Given the description of an element on the screen output the (x, y) to click on. 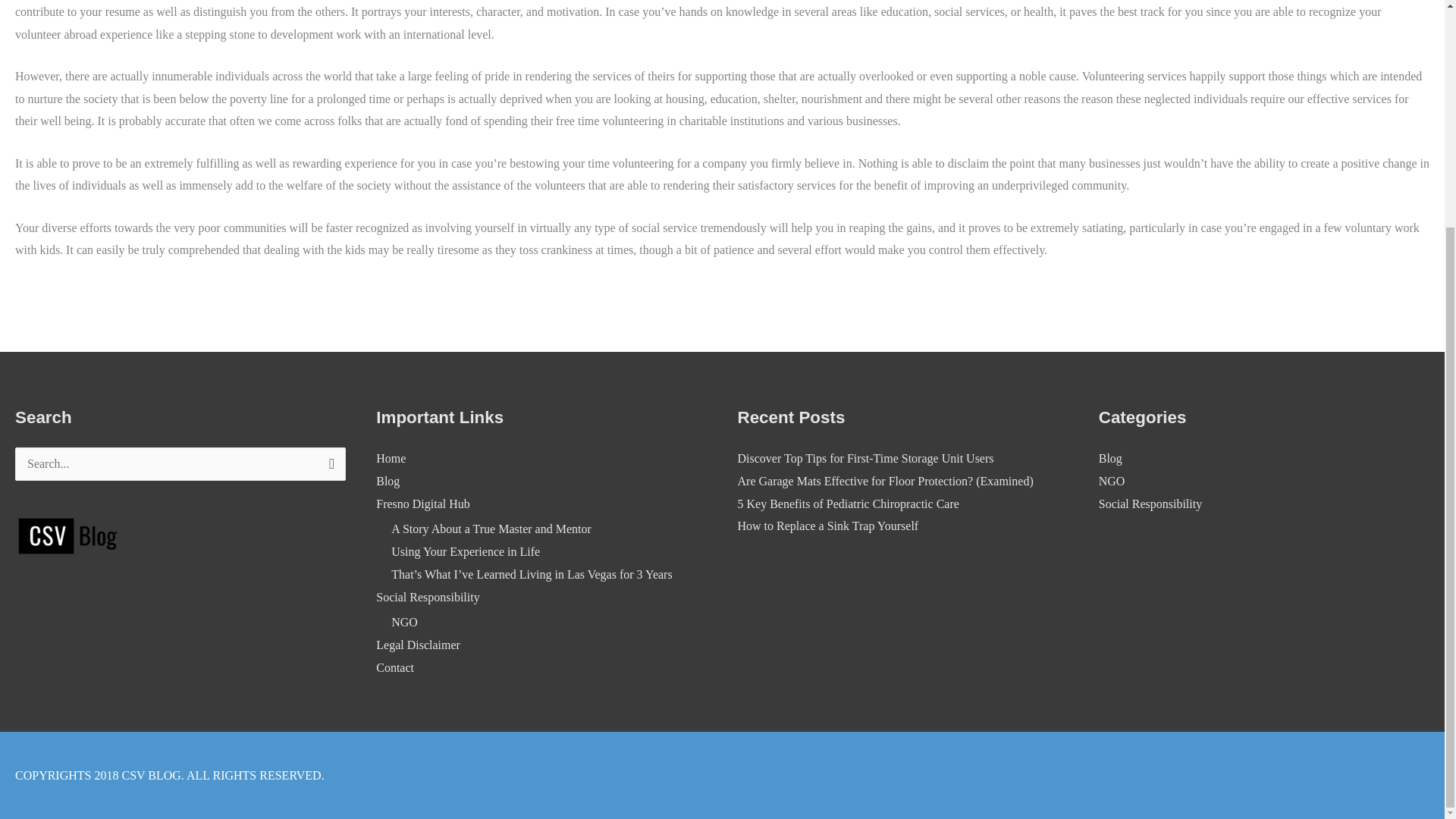
Home (390, 458)
Social Responsibility (1150, 503)
Fresno Digital Hub (422, 503)
A Story About a True Master and Mentor (491, 528)
Blog (386, 481)
Search (328, 468)
Blog (1110, 458)
Discover Top Tips for First-Time Storage Unit Users (864, 458)
Using Your Experience in Life (465, 551)
NGO (404, 621)
Contact (394, 667)
NGO (1112, 481)
Social Responsibility (427, 595)
Search (328, 468)
Legal Disclaimer (417, 644)
